Given the description of an element on the screen output the (x, y) to click on. 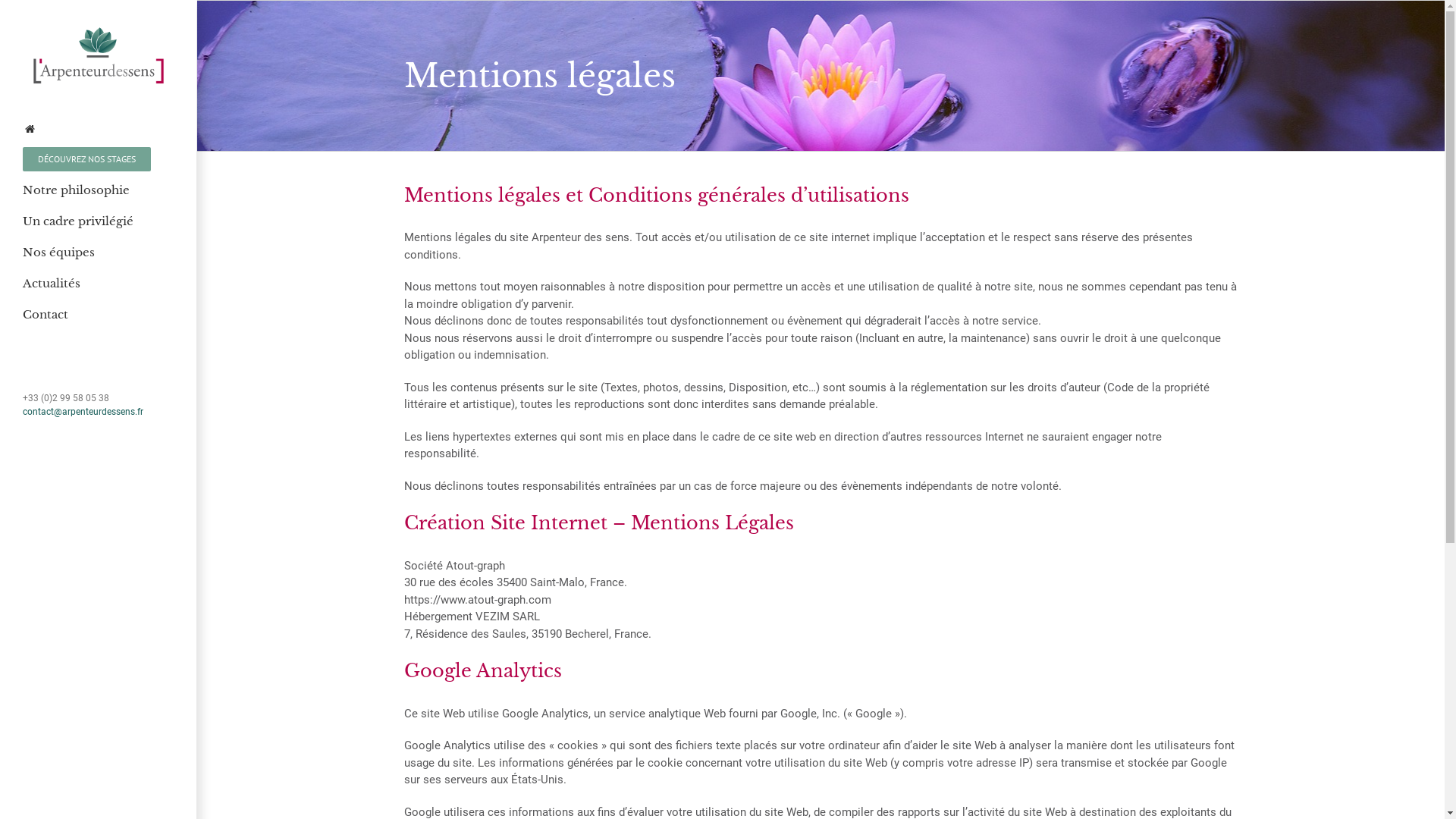
Contact Element type: text (98, 314)
contact@arpenteurdessens.fr Element type: text (82, 411)
Notre philosophie Element type: text (98, 190)
